Given the description of an element on the screen output the (x, y) to click on. 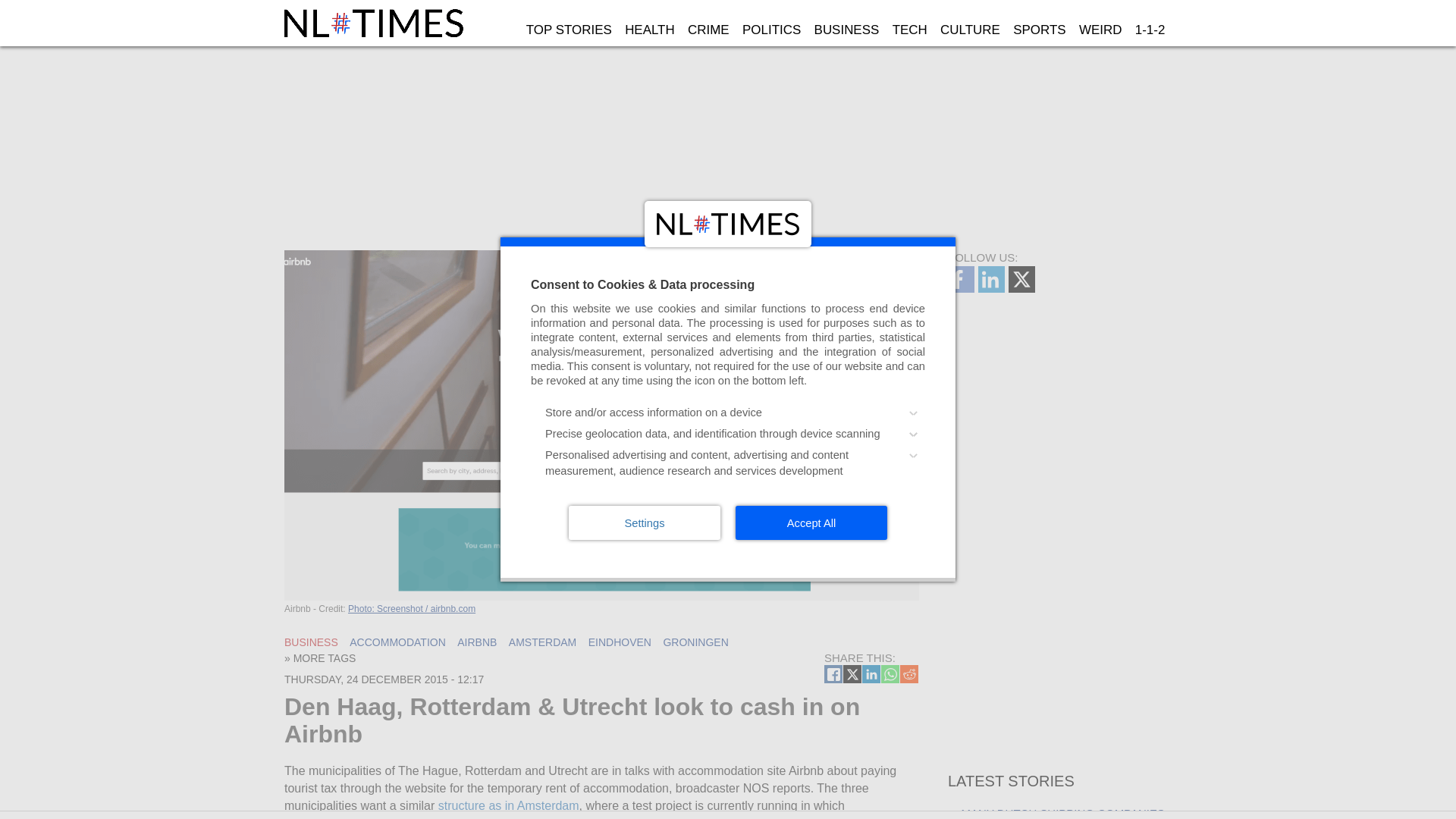
LINKEDIN (870, 674)
CULTURE (969, 30)
TOP STORIES (568, 30)
ACCOMMODATION (397, 642)
WHATSAPP (889, 674)
BUSINESS (310, 642)
SPORTS (1040, 30)
Home (375, 22)
WEIRD (1099, 30)
Follow us on X (1024, 287)
Accept All (810, 522)
AMSTERDAM (542, 642)
BUSINESS (846, 30)
Follow us on Facebook (962, 287)
AIRBNB (476, 642)
